Given the description of an element on the screen output the (x, y) to click on. 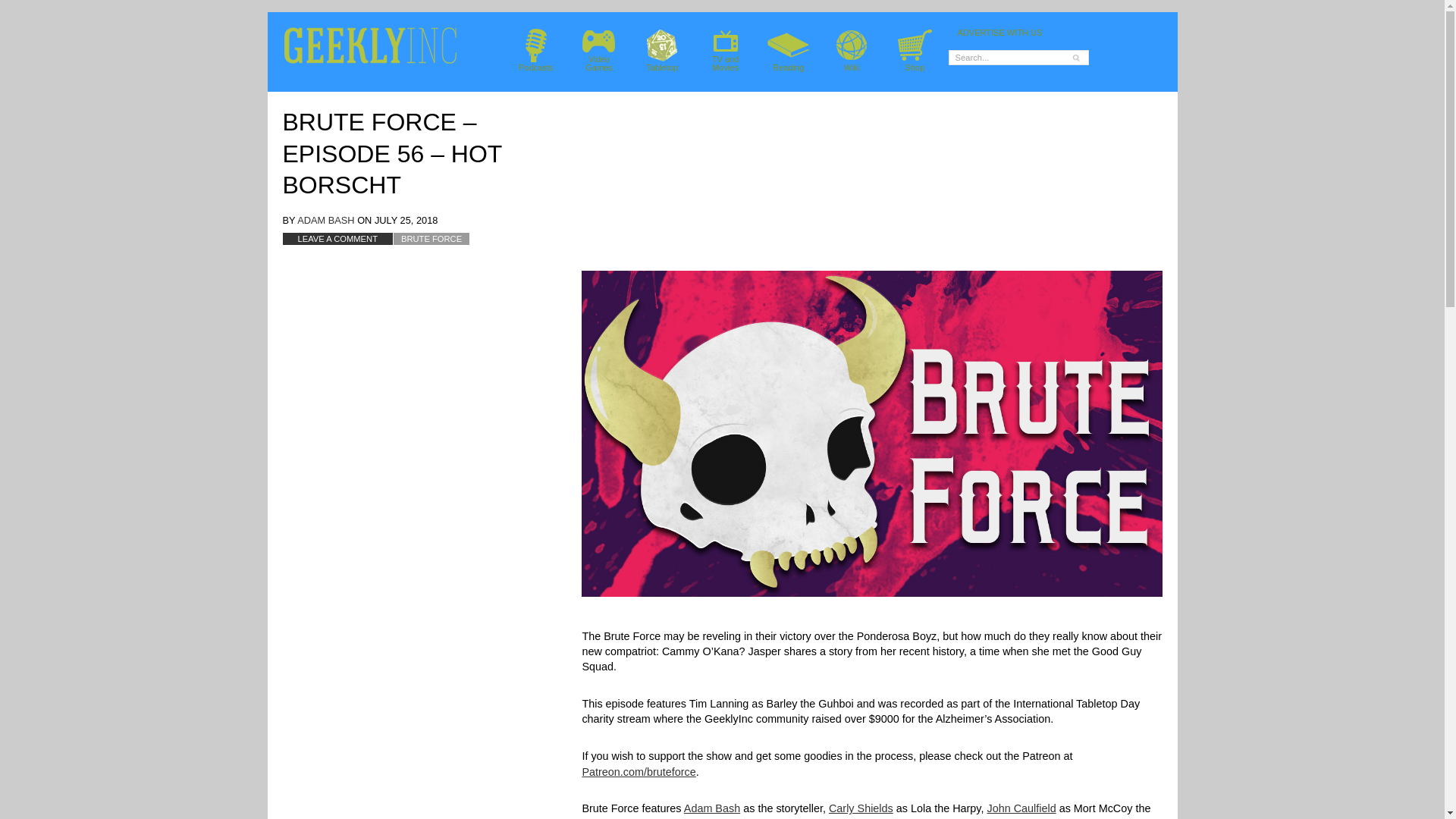
Shop (914, 49)
View all posts by Adam Bash (724, 49)
Patrick Rankin (325, 220)
Carly Shields (665, 818)
Wiki (598, 49)
Podcasts (860, 808)
BRUTE FORCE (851, 49)
Tabletop (536, 49)
ADVERTISE WITH US (430, 238)
Adam Bash (661, 49)
LEAVE A COMMENT (1021, 32)
Search... (711, 808)
John Caulfield (336, 238)
